Given the description of an element on the screen output the (x, y) to click on. 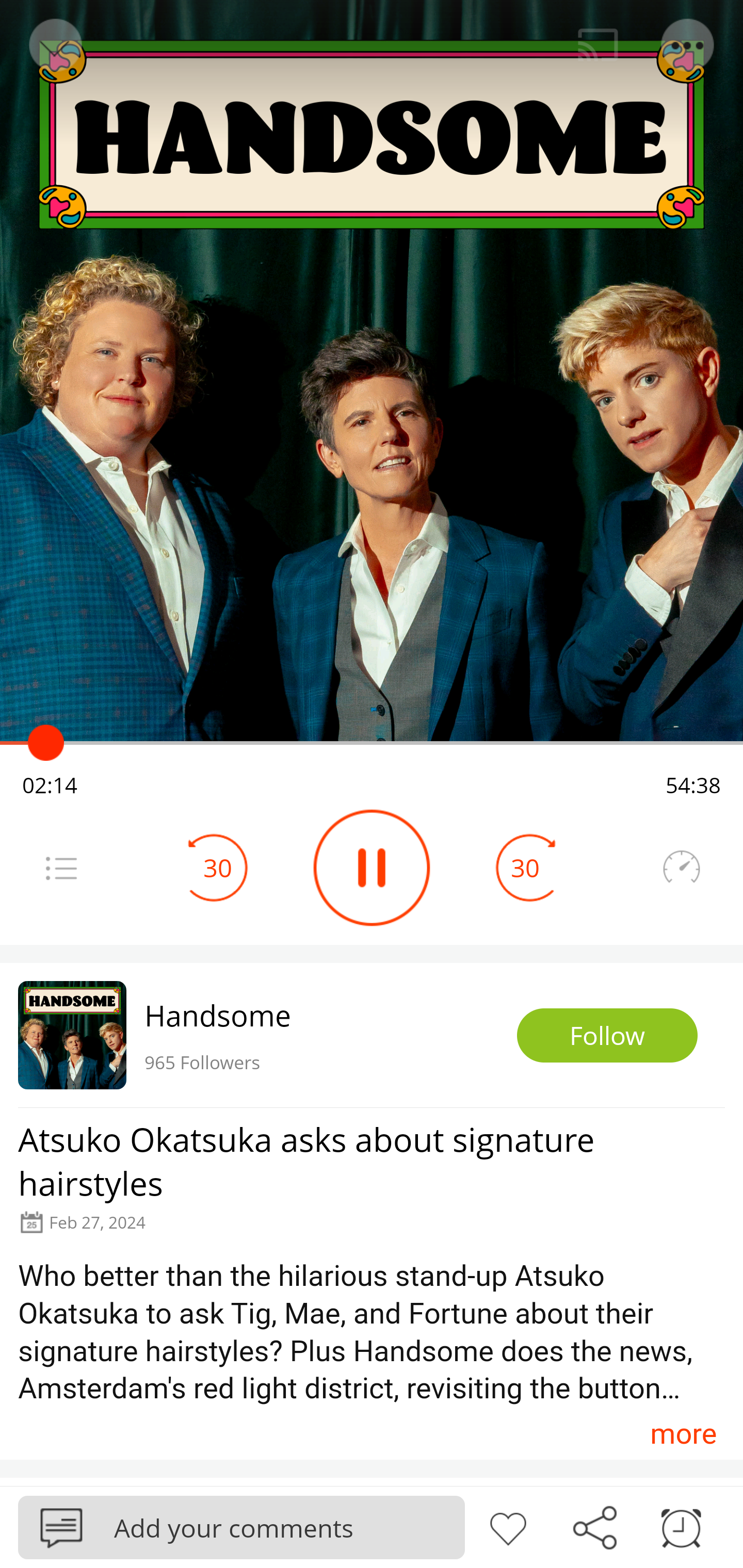
Back (53, 45)
Cast. Disconnected (597, 45)
Menu (688, 45)
Play (371, 867)
30 Seek Backward (217, 867)
30 Seek Forward (525, 867)
Menu (60, 867)
Speedometer (681, 867)
Handsome 965 Followers Follow (371, 1034)
Follow (607, 1035)
more (682, 1432)
Like (508, 1526)
Share (594, 1526)
Sleep timer (681, 1526)
Podbean Add your comments (241, 1526)
